Given the description of an element on the screen output the (x, y) to click on. 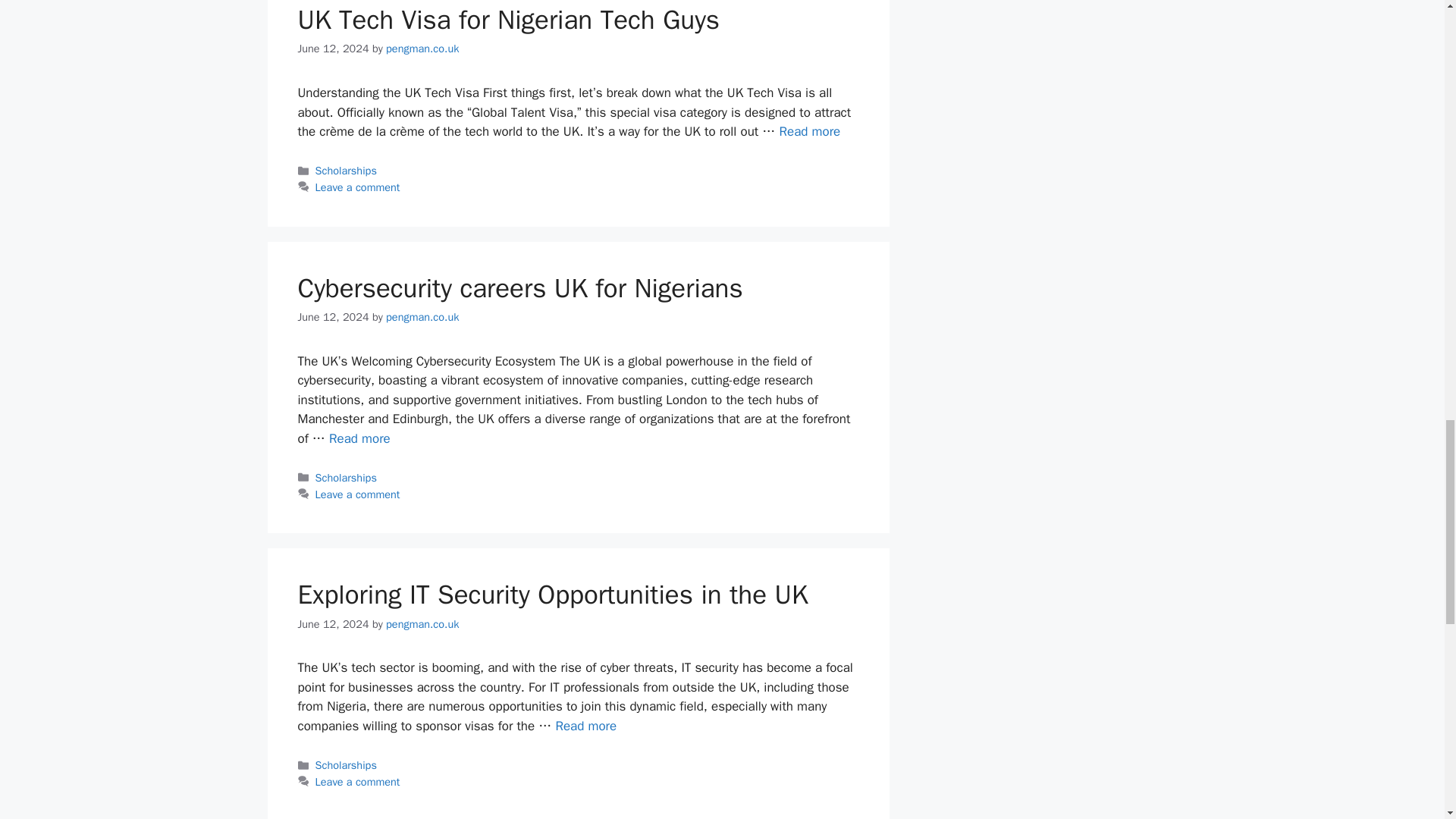
Cybersecurity careers UK for Nigerians (359, 438)
View all posts by pengman.co.uk (421, 623)
pengman.co.uk (421, 48)
View all posts by pengman.co.uk (421, 316)
Scholarships (346, 170)
Read more (809, 131)
Exploring IT Security Opportunities in the UK (584, 725)
UK Tech Visa for Nigerian Tech Guys (508, 19)
UK Tech Visa for Nigerian Tech Guys (809, 131)
View all posts by pengman.co.uk (421, 48)
